Given the description of an element on the screen output the (x, y) to click on. 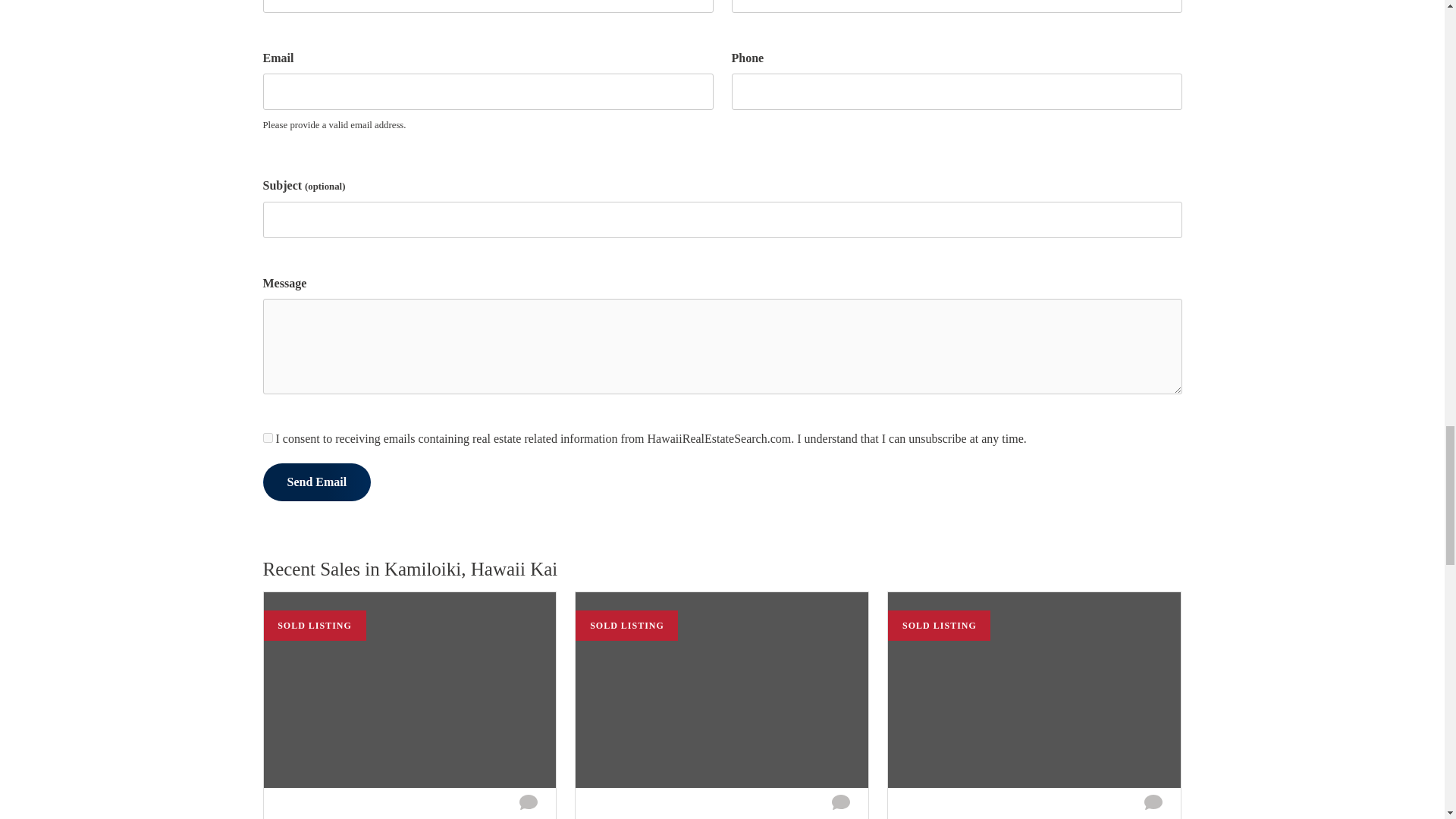
in (267, 438)
